Given the description of an element on the screen output the (x, y) to click on. 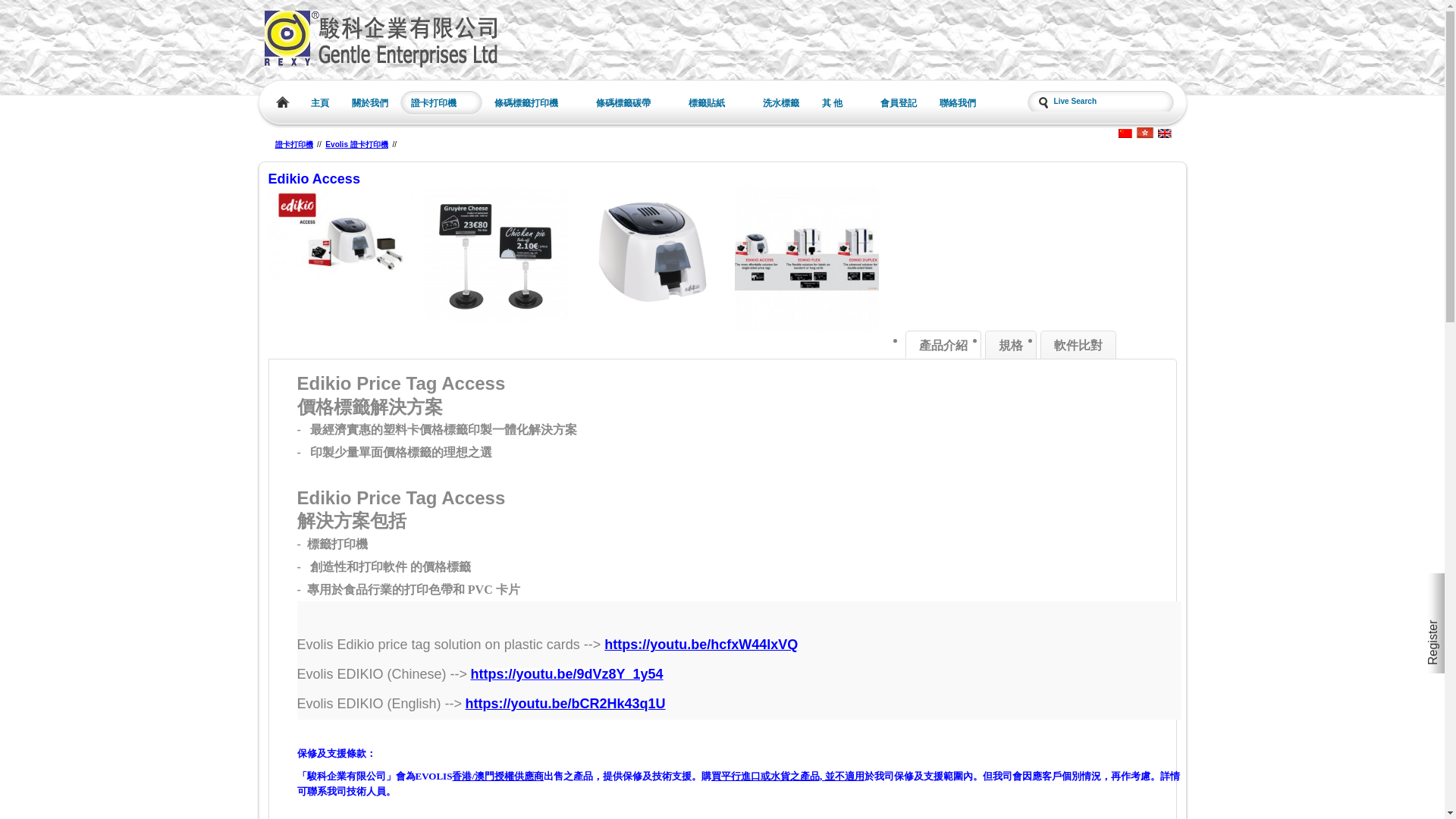
Eng (1164, 132)
Live Search (1099, 100)
Search (59, 10)
